Given the description of an element on the screen output the (x, y) to click on. 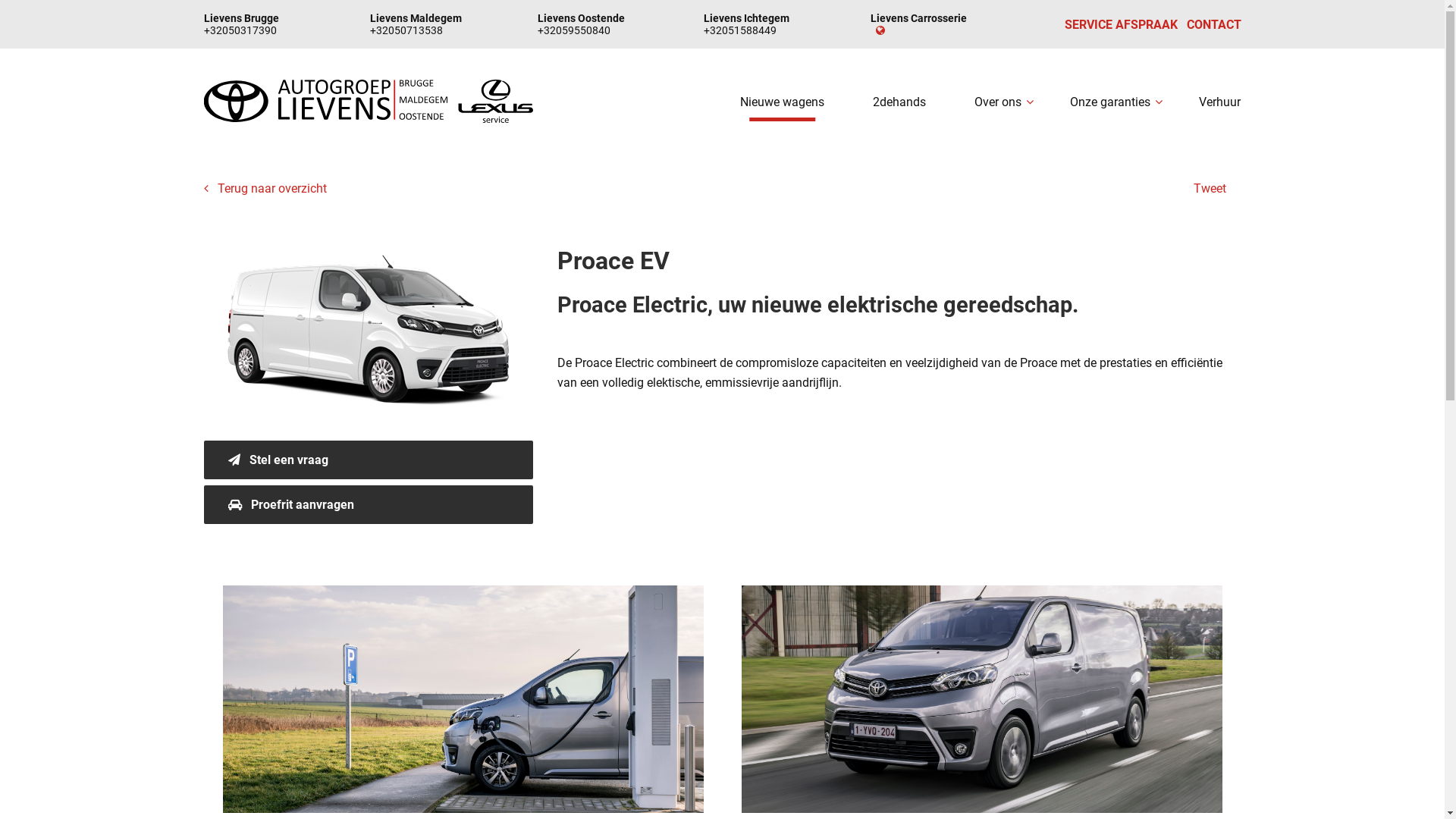
Proefrit aanvragen Element type: text (368, 504)
Over ons Element type: text (997, 100)
Tweet Element type: text (1209, 188)
Stel een vraag Element type: text (368, 459)
AUTOGROEP LIEVENS Element type: text (368, 101)
submit Element type: text (722, 734)
Terug naar overzicht Element type: text (264, 188)
Nieuwe wagens Element type: text (781, 100)
Proace EV Element type: hover (368, 337)
CONTACT Element type: text (1213, 23)
Verhuur Element type: text (1219, 100)
Onze garanties Element type: text (1109, 100)
2dehands Element type: text (899, 100)
submit Element type: text (722, 794)
Carrosserie Lievens Website Element type: hover (877, 30)
SERVICE AFSPRAAK Element type: text (1120, 23)
